Given the description of an element on the screen output the (x, y) to click on. 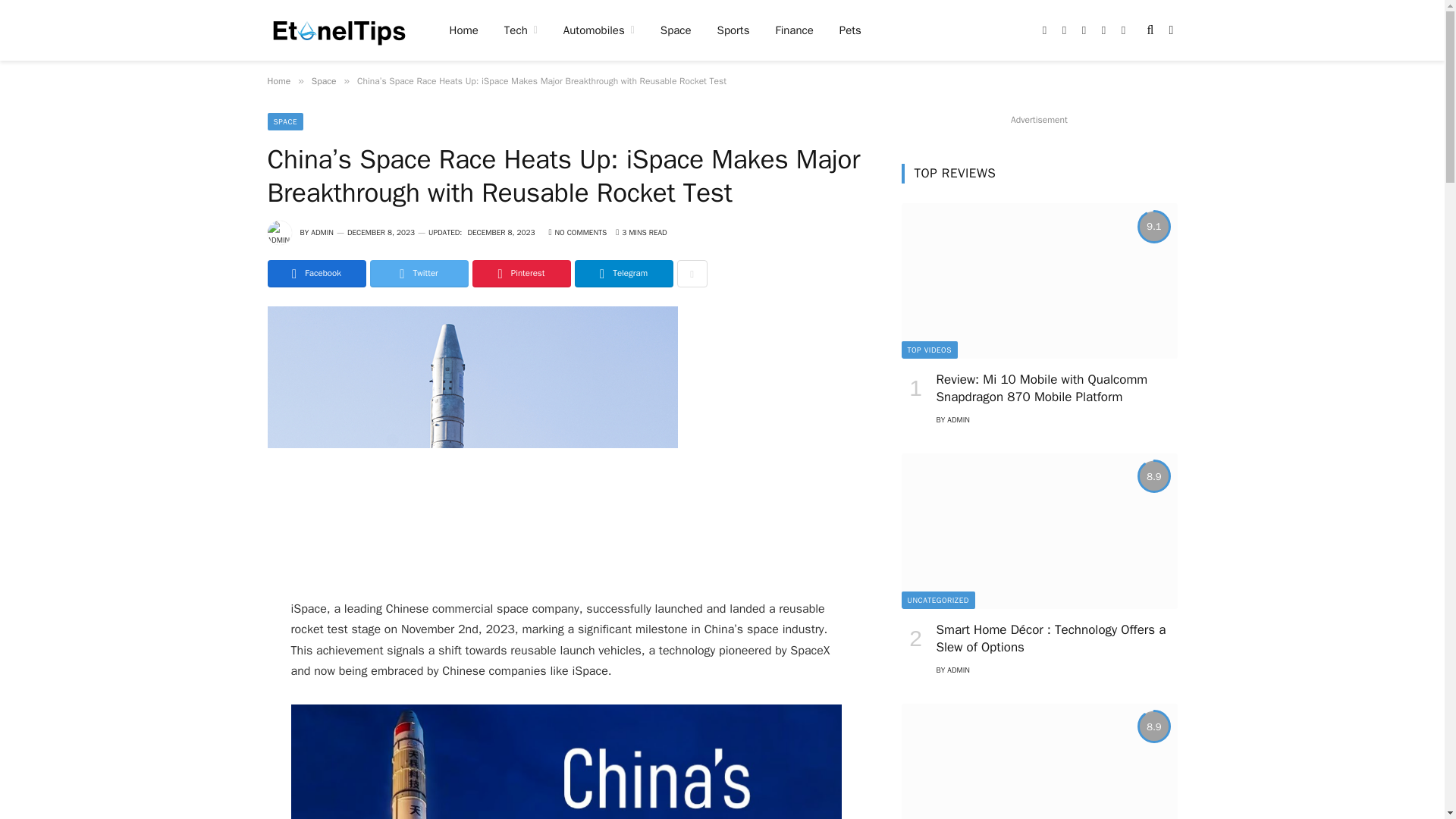
Tech (521, 30)
Home (464, 30)
Etonel Tips (337, 30)
